Given the description of an element on the screen output the (x, y) to click on. 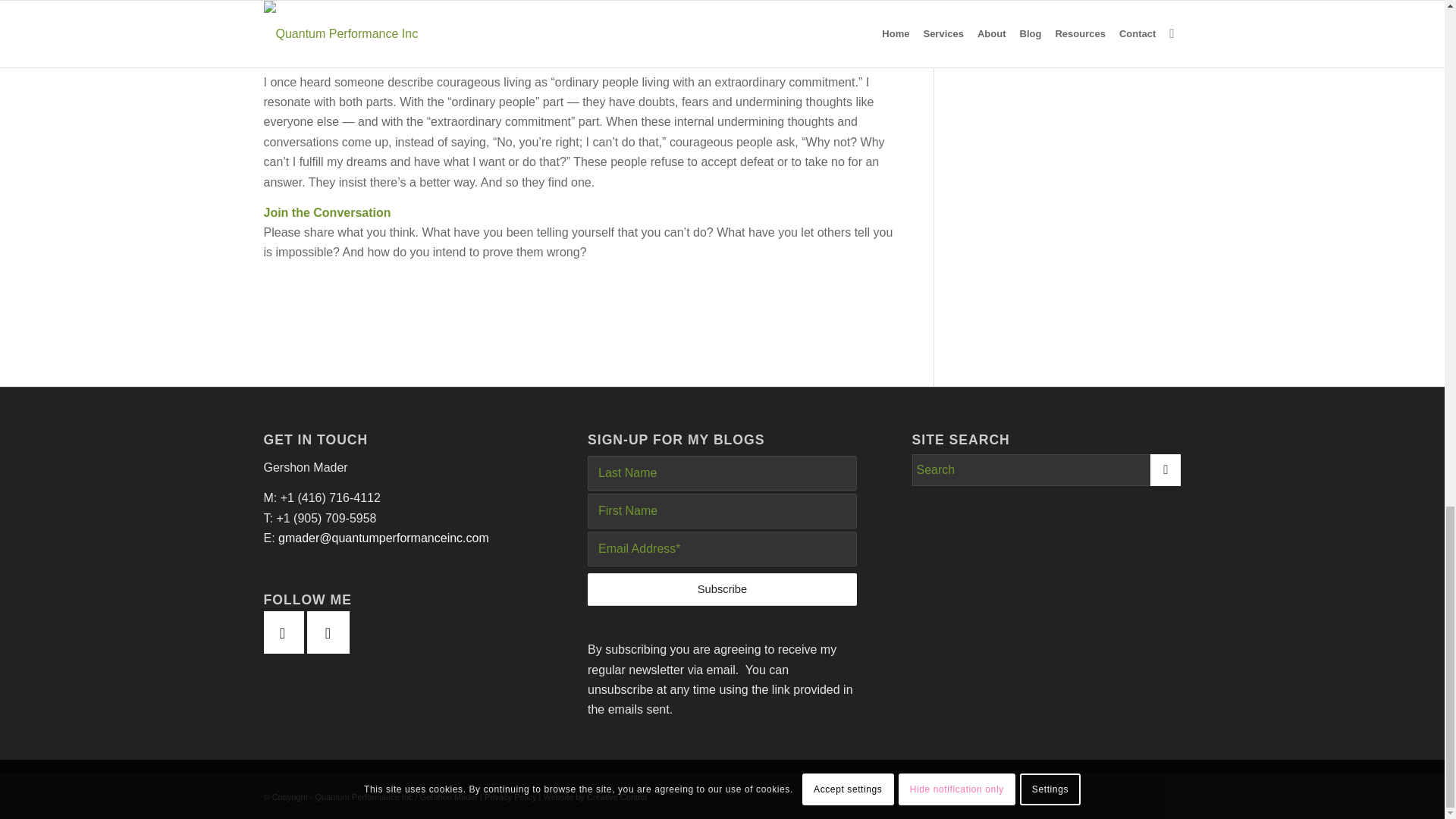
LinkedIn (1146, 793)
Subscribe (722, 589)
Twitter (1169, 793)
